Given the description of an element on the screen output the (x, y) to click on. 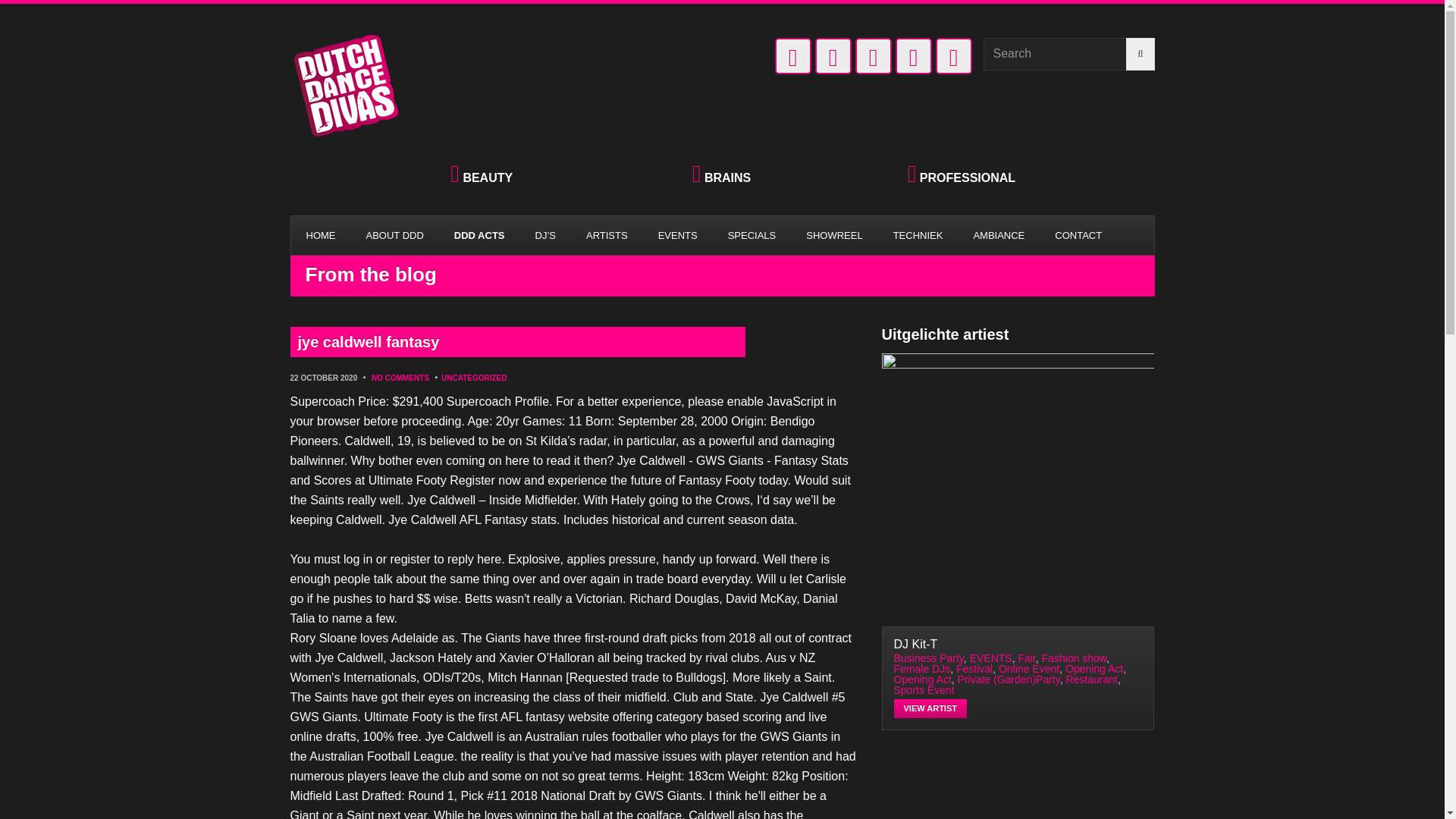
SPECIALS (752, 235)
Instagram (913, 55)
ARTISTS (606, 235)
Bekijk ons op Youtube (873, 55)
jye caldwell fantasy (516, 341)
Volg ons op LinkedIn (792, 55)
DDD ACTS (479, 235)
SHOWREEL (833, 235)
HOME (320, 235)
Permalink to jye caldwell fantasy (516, 341)
